Given the description of an element on the screen output the (x, y) to click on. 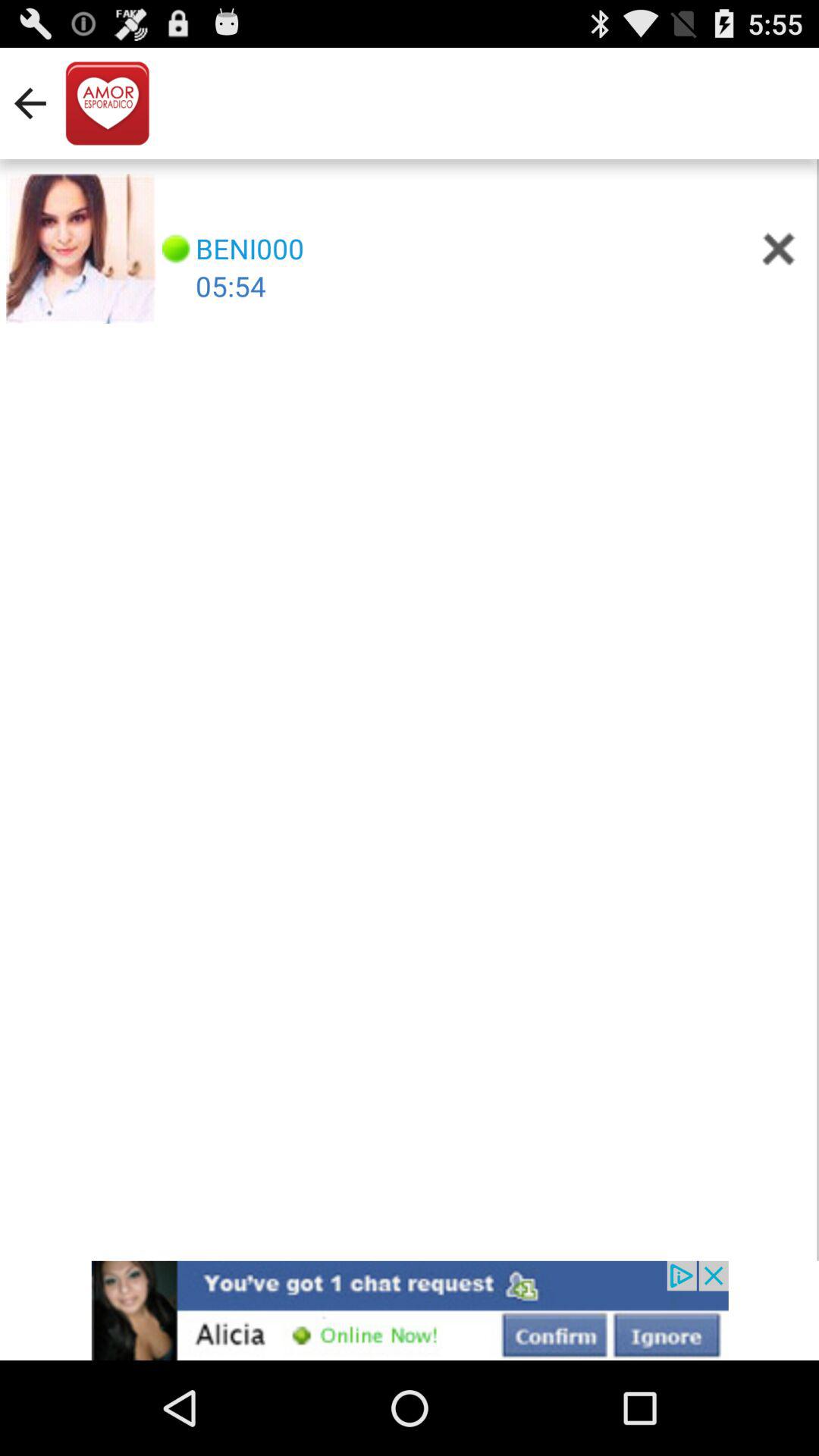
details about advertisement (409, 1310)
